Given the description of an element on the screen output the (x, y) to click on. 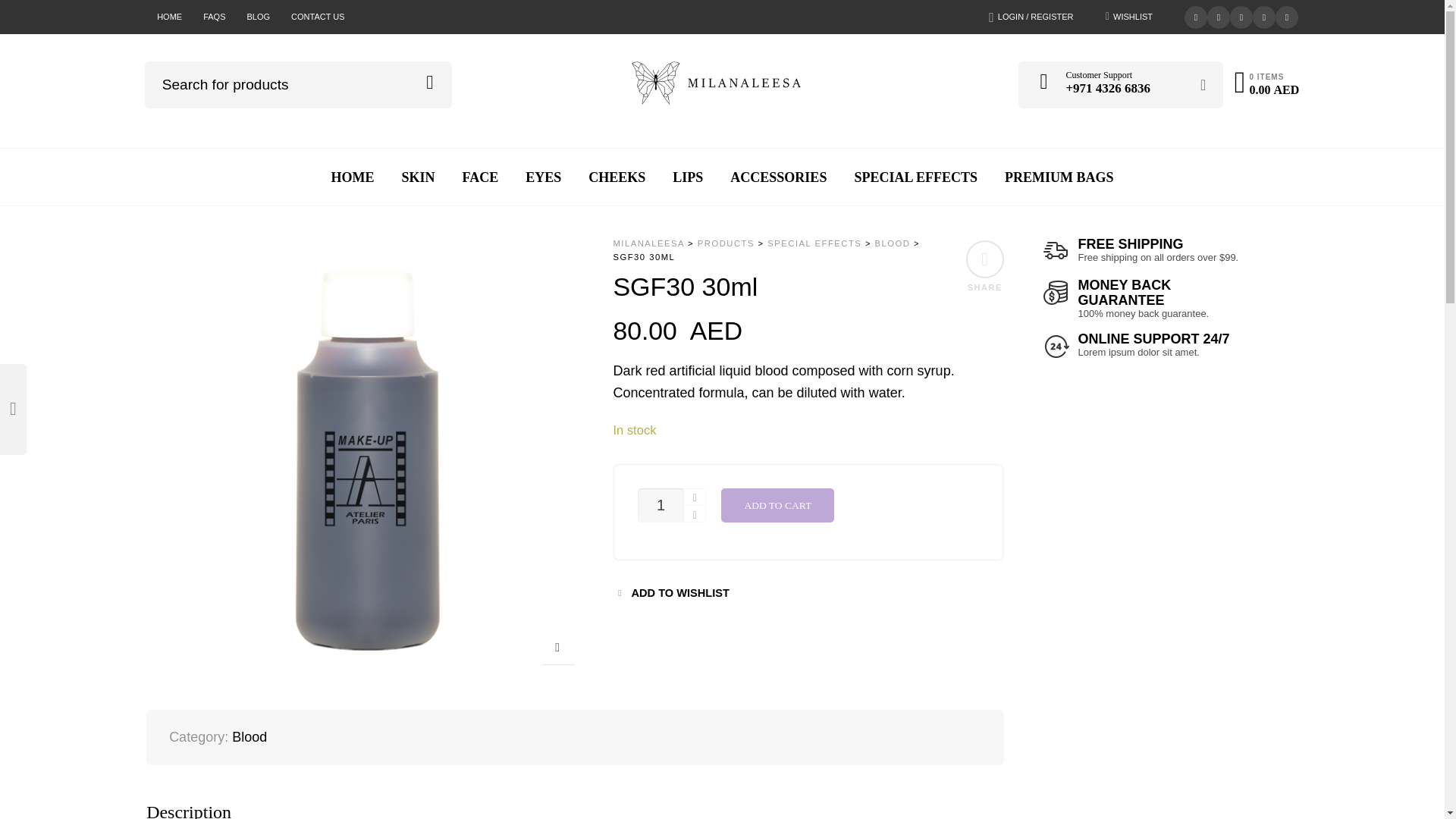
FACE (480, 178)
Go to the Special Effects Category archives. (814, 243)
BLOOD (893, 243)
Twitter (1196, 15)
SKIN (418, 178)
Go to the Blood Category archives. (893, 243)
Pinterest (1241, 15)
ACCESSORIES (778, 178)
SPECIAL EFFECTS (814, 243)
HOME (169, 17)
Facebook (1218, 15)
LIPS (687, 178)
ADD TO CART (777, 505)
CONTACT US (318, 17)
SPECIAL EFFECTS (915, 178)
